Given the description of an element on the screen output the (x, y) to click on. 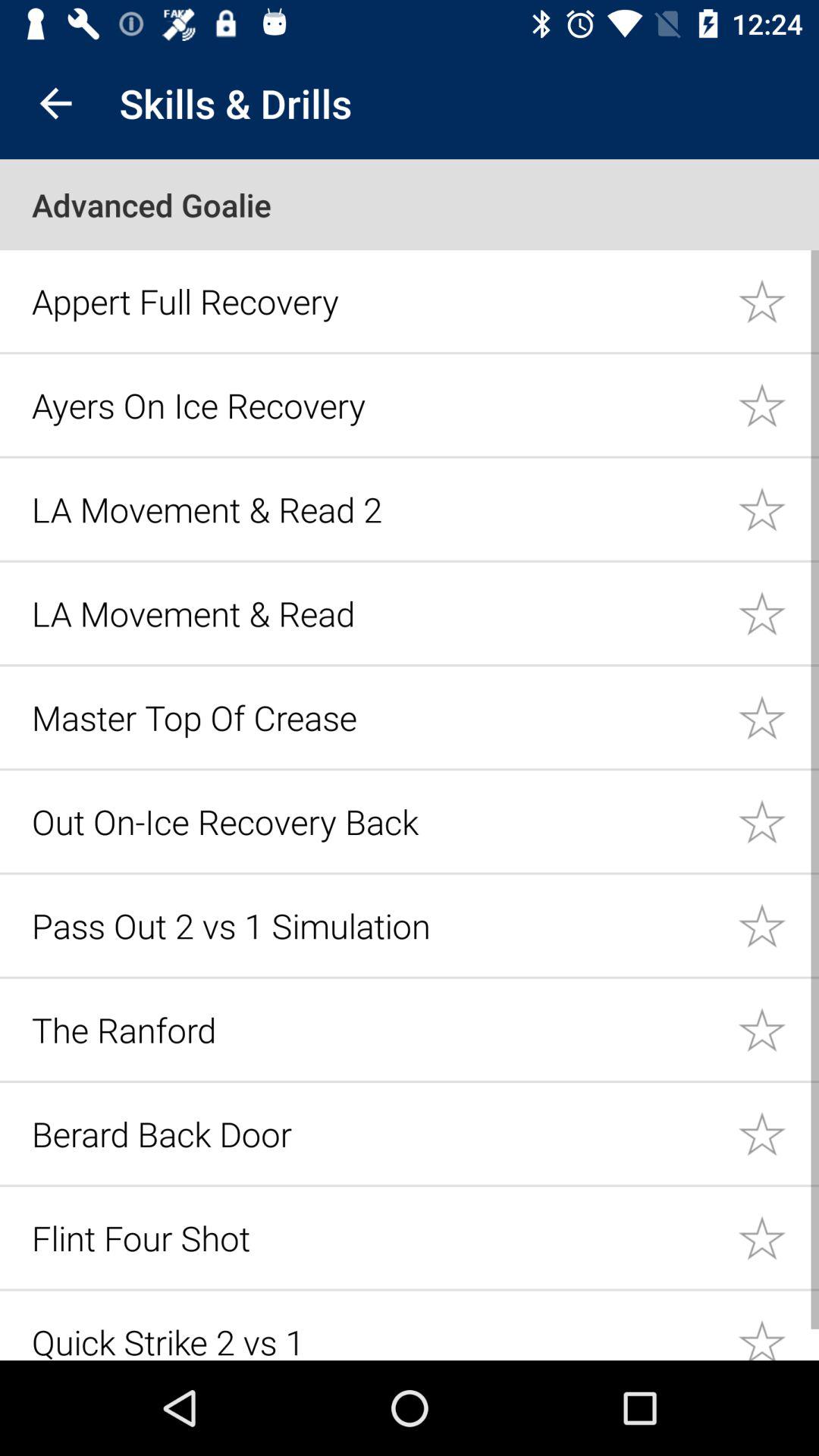
favorite (778, 1133)
